Given the description of an element on the screen output the (x, y) to click on. 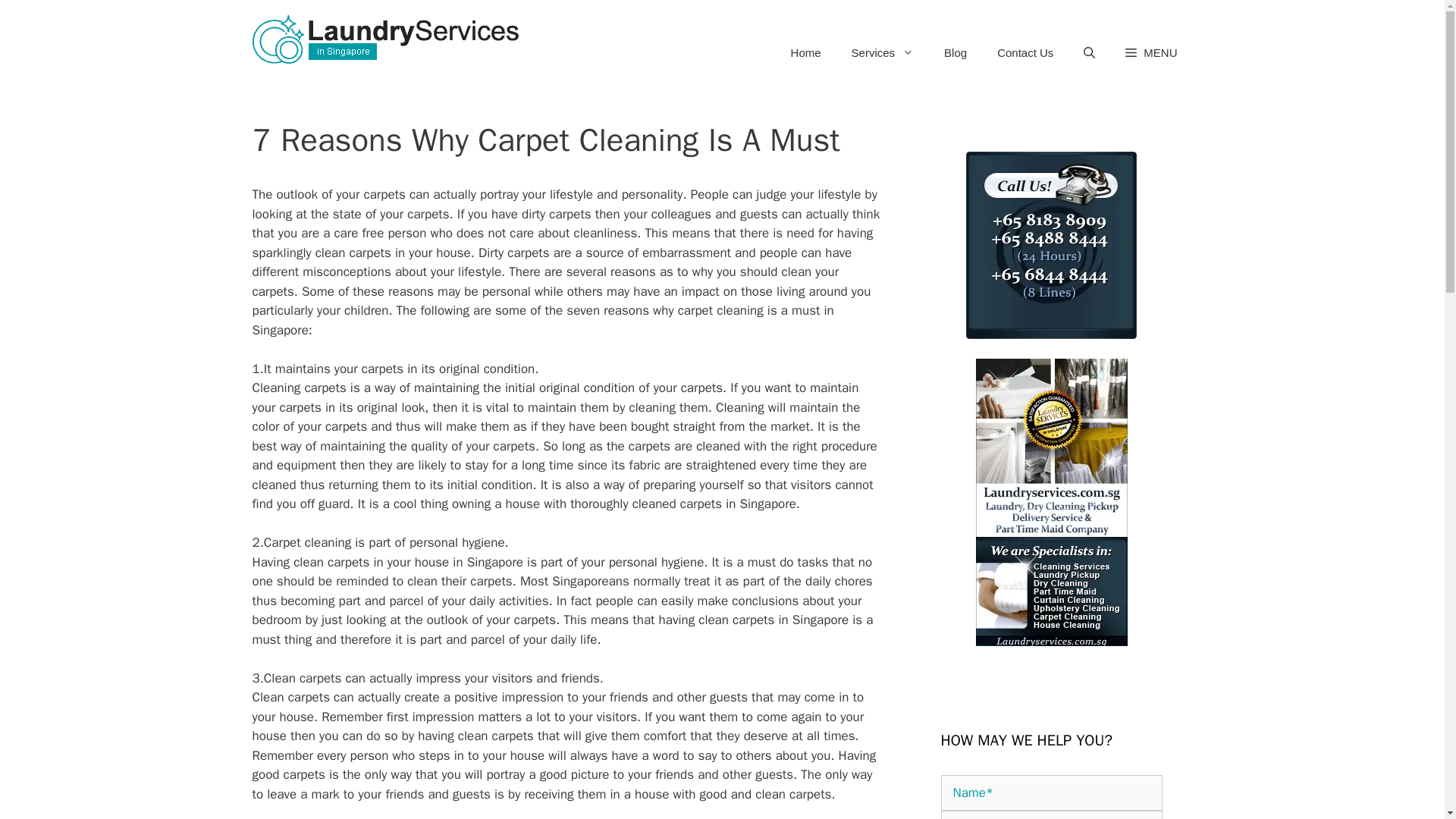
Home (805, 53)
Services (882, 53)
Blog (954, 53)
Contact Us (1024, 53)
MENU (1150, 53)
